Given the description of an element on the screen output the (x, y) to click on. 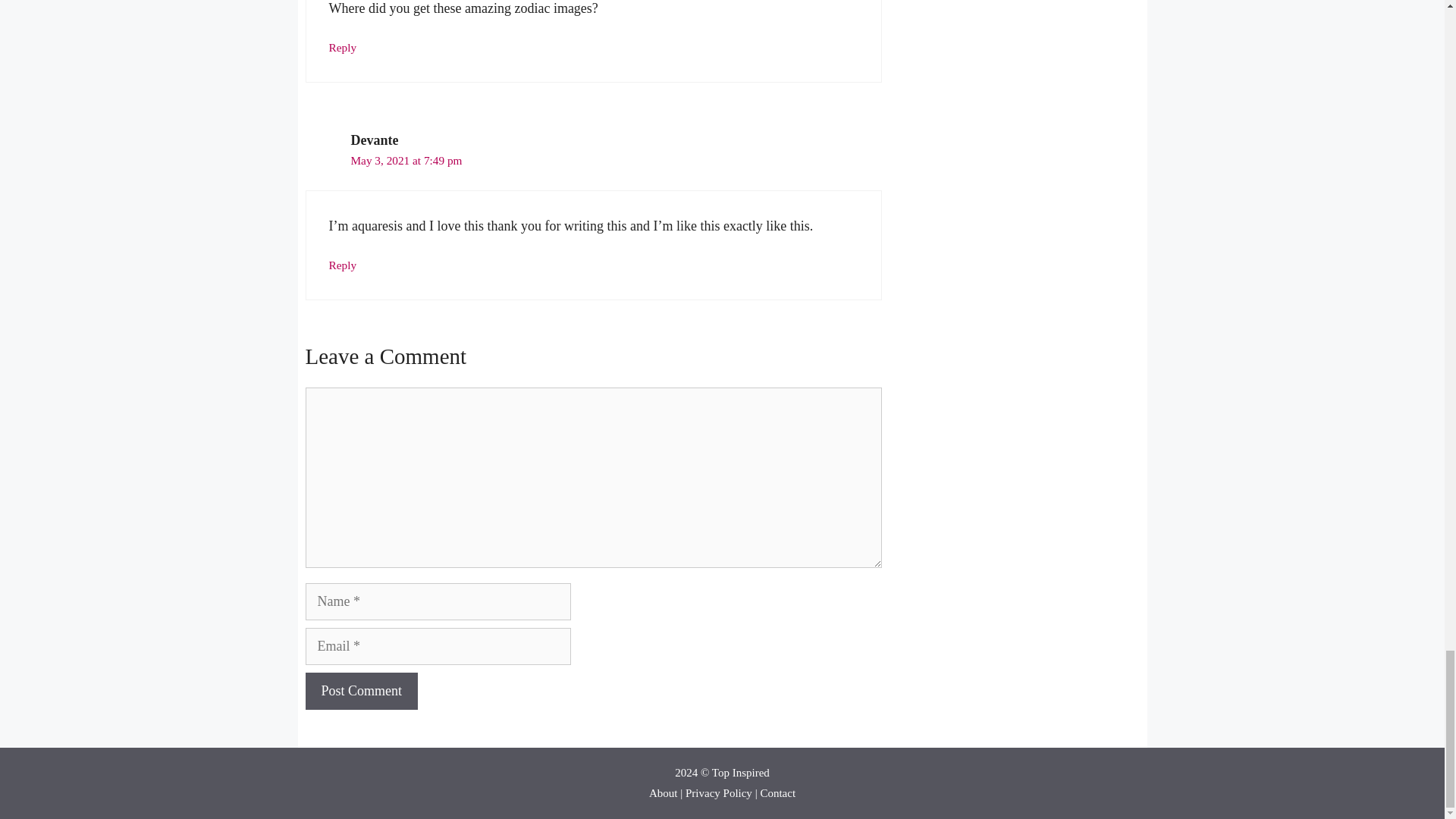
May 3, 2021 at 7:49 pm (405, 160)
Reply (342, 47)
Post Comment (360, 691)
Privacy Policy (718, 793)
Reply (342, 264)
About (663, 793)
Post Comment (360, 691)
